Given the description of an element on the screen output the (x, y) to click on. 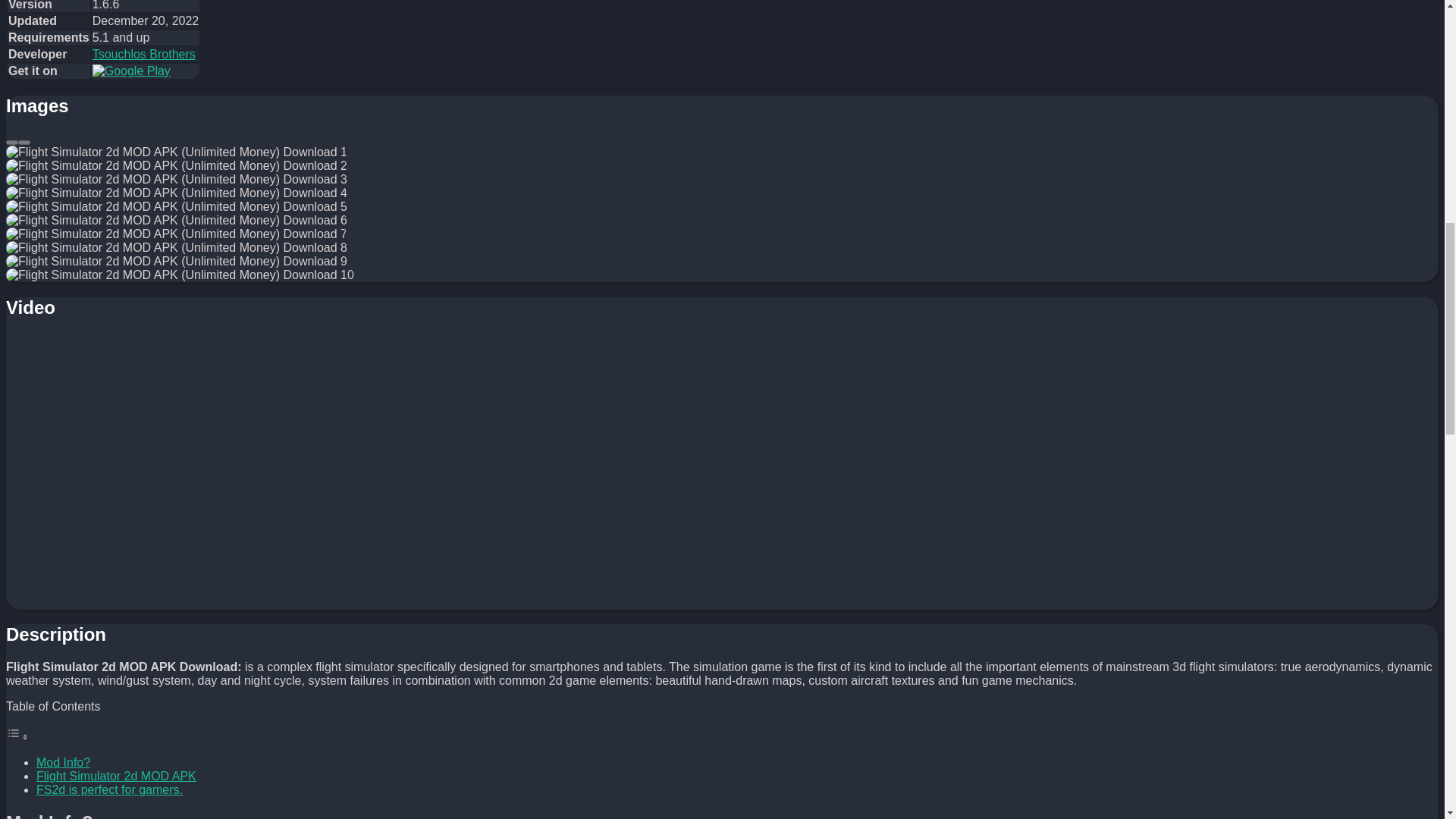
Next (23, 142)
Previous (11, 142)
Mod Info? (63, 762)
